Given the description of an element on the screen output the (x, y) to click on. 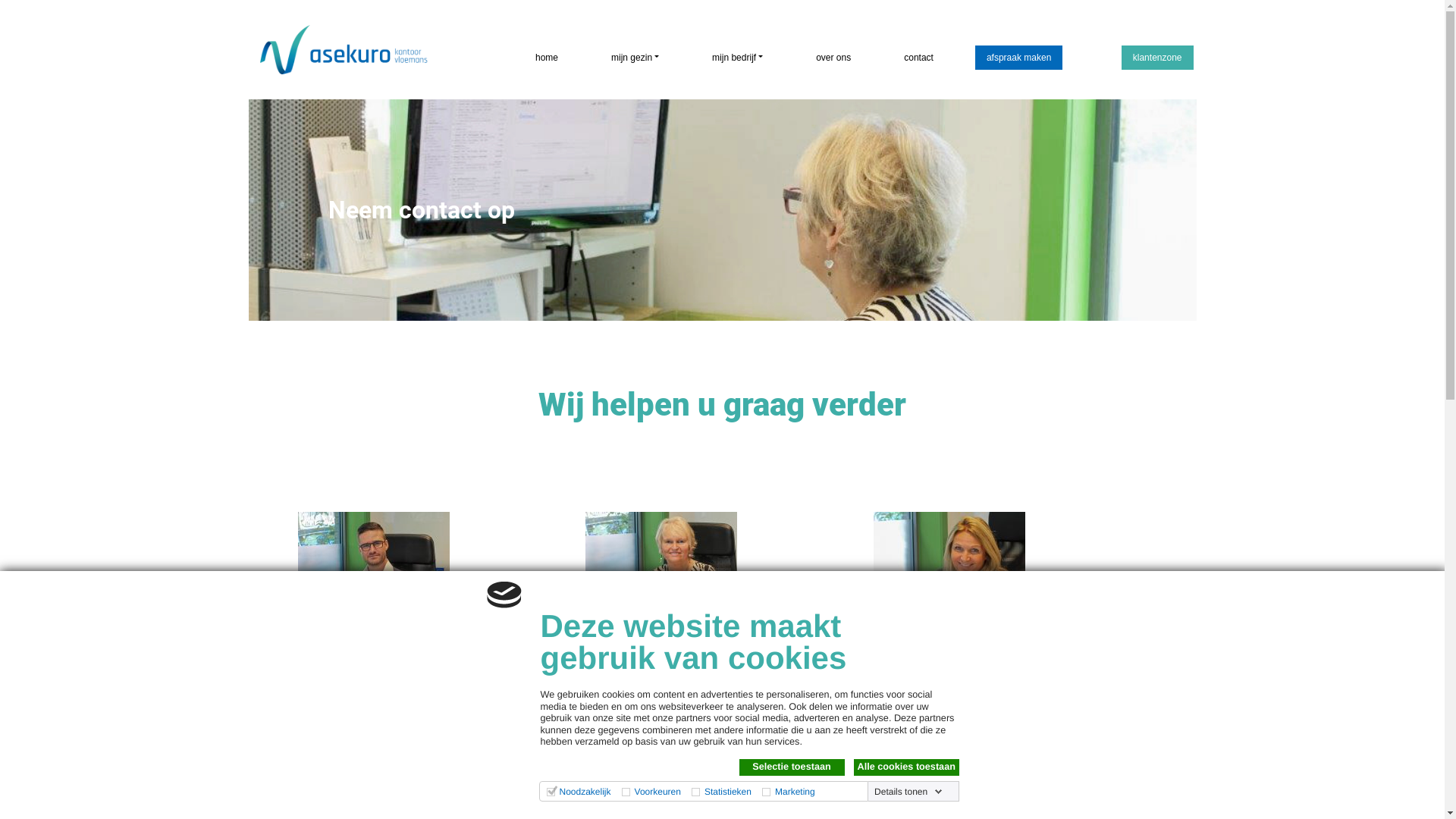
klantenzone Element type: text (1157, 57)
Details tonen Element type: text (908, 791)
mijn gezin Element type: text (634, 57)
Selectie toestaan Element type: text (791, 767)
Alle cookies toestaan Element type: text (906, 767)
FINTRO HR-36 Element type: hover (661, 587)
contact Element type: text (918, 57)
home Element type: text (546, 57)
mijn bedrijf Element type: text (737, 57)
FINTRO HR-49 Element type: hover (949, 587)
over ons Element type: text (833, 57)
Contacteer ons Element type: text (1322, 775)
FINTRO HR-31 Element type: hover (372, 587)
afspraak maken Element type: text (1018, 57)
